Given the description of an element on the screen output the (x, y) to click on. 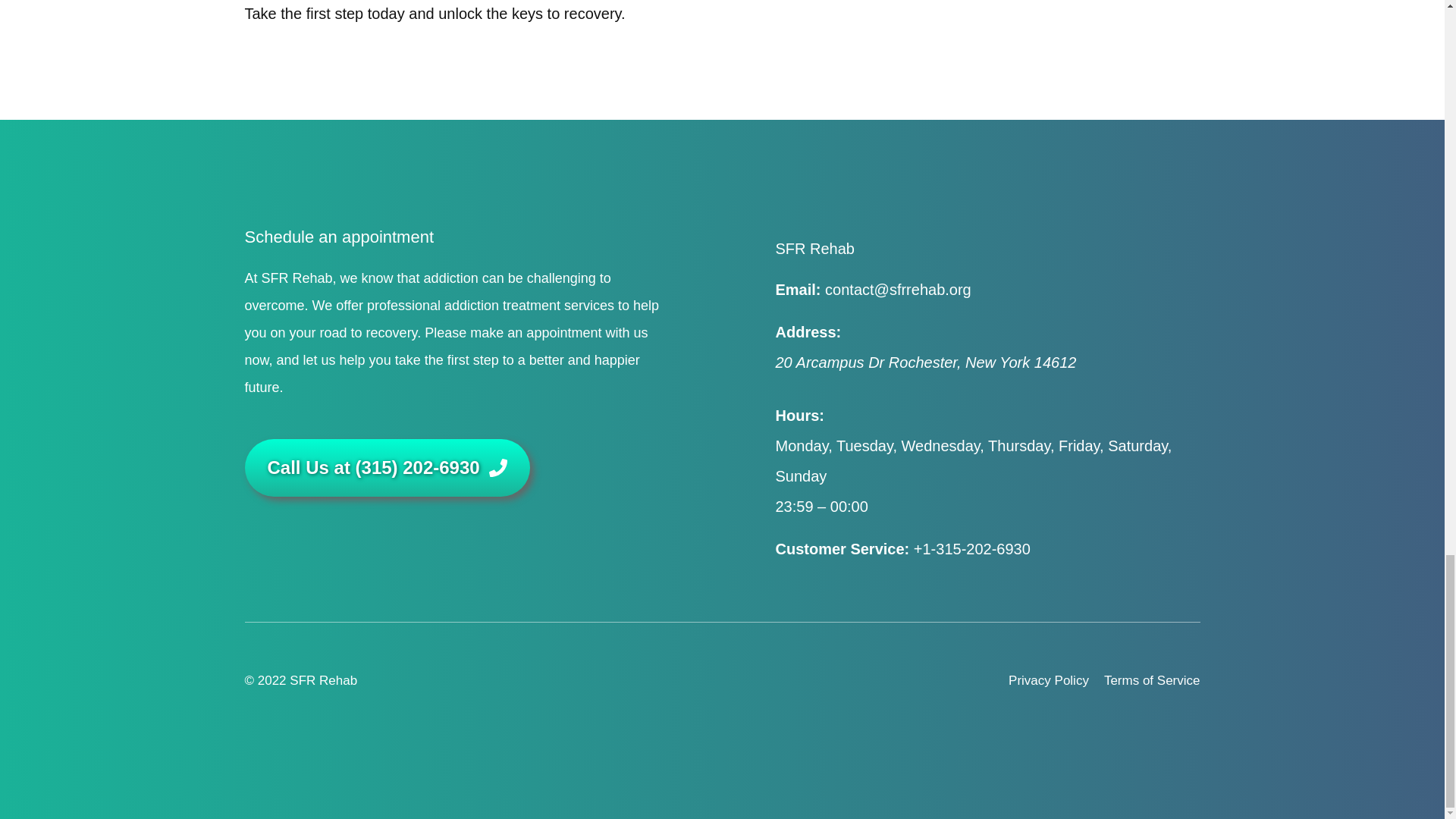
SFR Rehab (814, 248)
Privacy Policy (1049, 680)
SFR Rehab (322, 680)
Terms of Service (1151, 680)
